Given the description of an element on the screen output the (x, y) to click on. 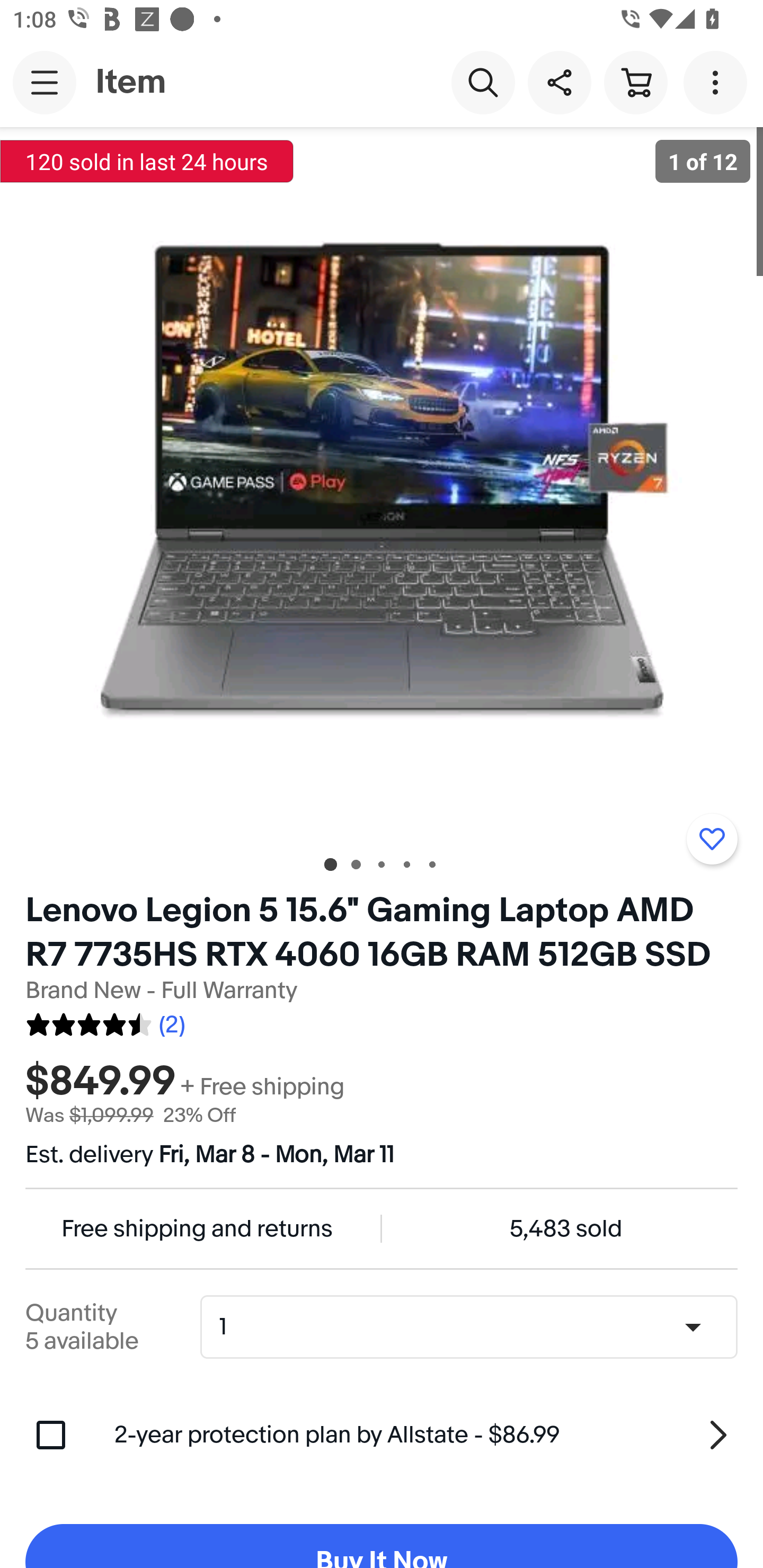
Main navigation, open (44, 82)
Search (482, 81)
Share this item (559, 81)
Cart button shopping cart (635, 81)
More options (718, 81)
Item image 1 of 12 (381, 482)
120 sold in last 24 hours (146, 161)
Add to watchlist (711, 838)
2 reviews. Average rating 4.5 out of five 9.0 (2) (104, 1021)
Quantity,1,5 available 1 (474, 1326)
2-year protection plan by Allstate - $86.99 (425, 1434)
Buy It Now (381, 1546)
